Given the description of an element on the screen output the (x, y) to click on. 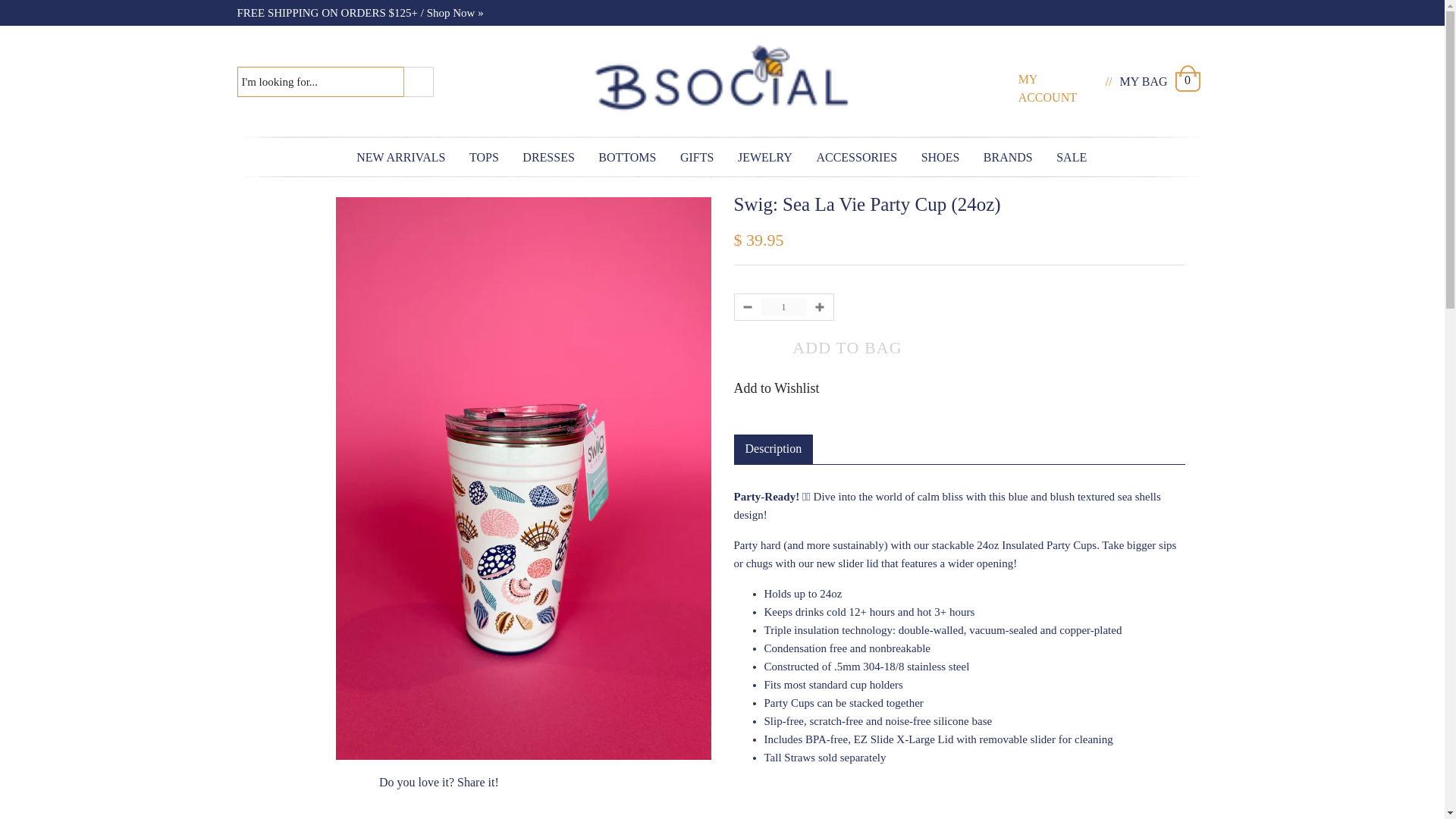
1 (783, 307)
DRESSES (548, 157)
MY ACCOUNT (1057, 83)
My Account (1047, 88)
TOPS (484, 157)
MY ACCOUNT (1047, 88)
GIFTS (697, 157)
BOTTOMS (627, 157)
NEW ARRIVALS (401, 157)
